Given the description of an element on the screen output the (x, y) to click on. 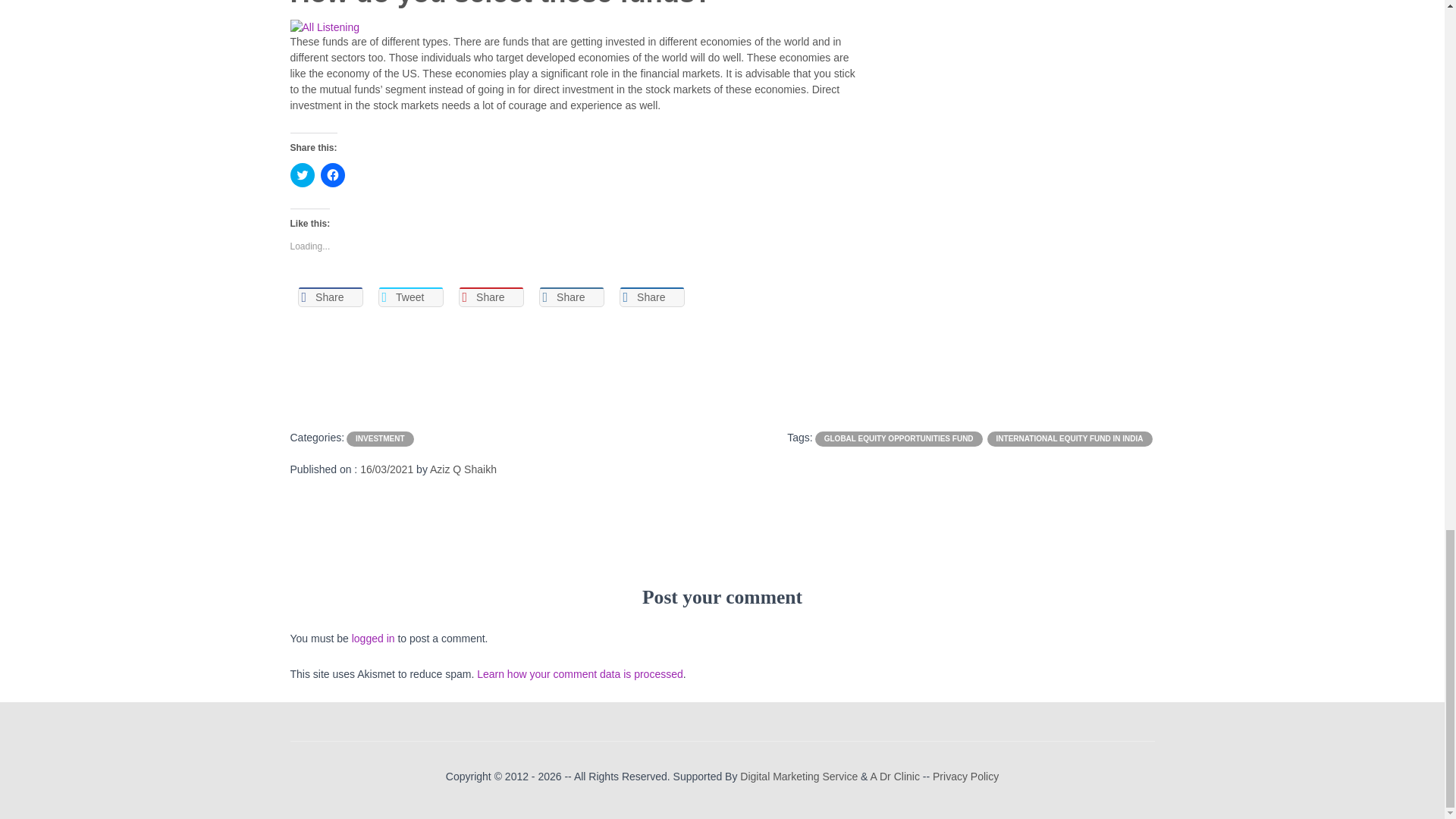
Share on Twitter (409, 297)
GLOBAL EQUITY OPPORTUNITIES FUND (899, 438)
logged in (373, 638)
Share (571, 297)
INTERNATIONAL EQUITY FUND IN INDIA (1068, 438)
A Dr Clinic (895, 776)
Aziz Q Shaikh (462, 469)
Digital Marketing Service (798, 776)
Share (651, 297)
Tweet (409, 297)
